Given the description of an element on the screen output the (x, y) to click on. 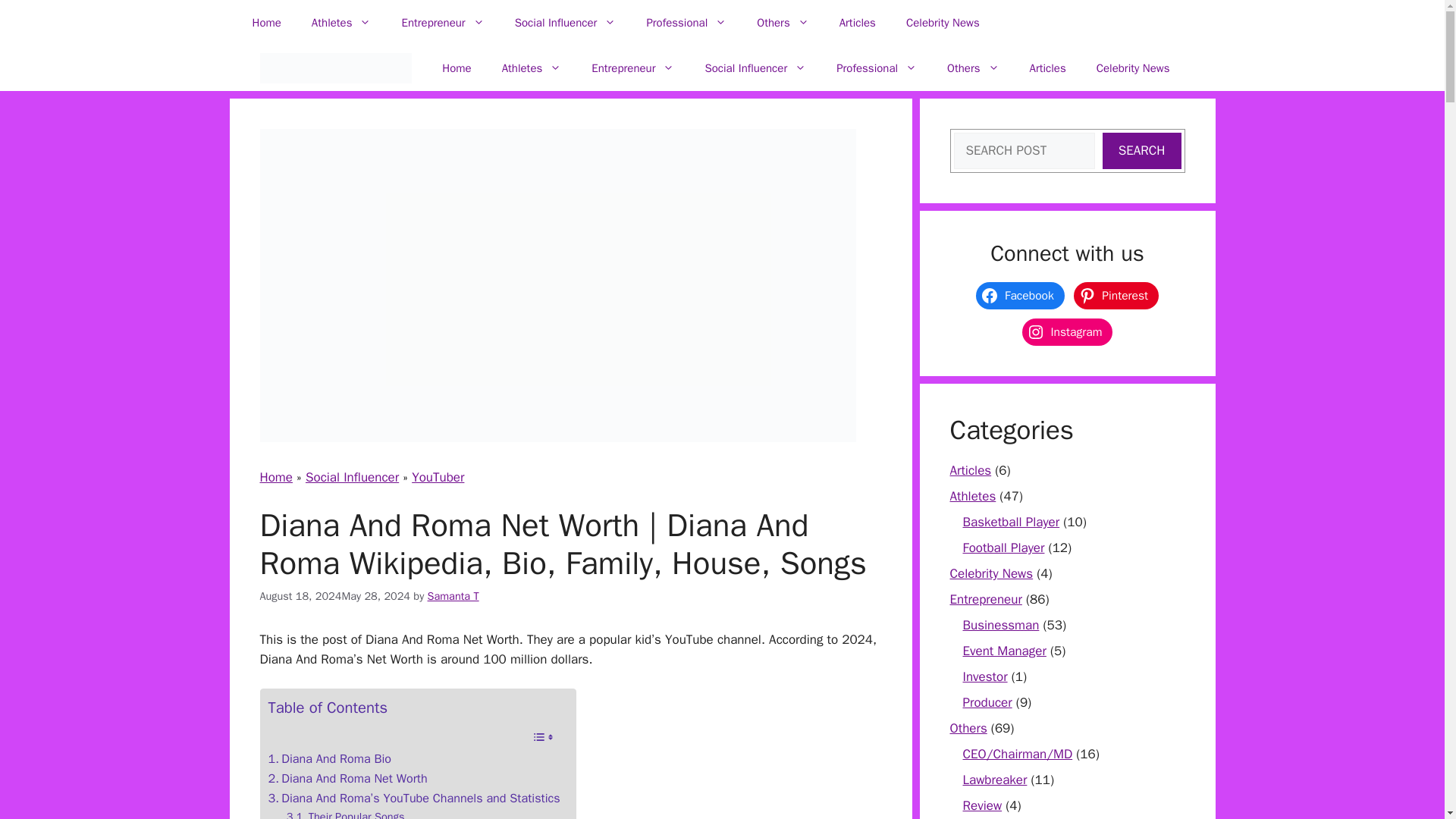
Diana And Roma Net Worth (347, 778)
Professional (685, 22)
Athletes (531, 67)
Others (782, 22)
Their Popular Songs (345, 813)
Entrepreneur (632, 67)
Entrepreneur (442, 22)
Celebrity Net Worth And Bio (334, 67)
Home (265, 22)
View all posts by Samanta T (453, 595)
